Given the description of an element on the screen output the (x, y) to click on. 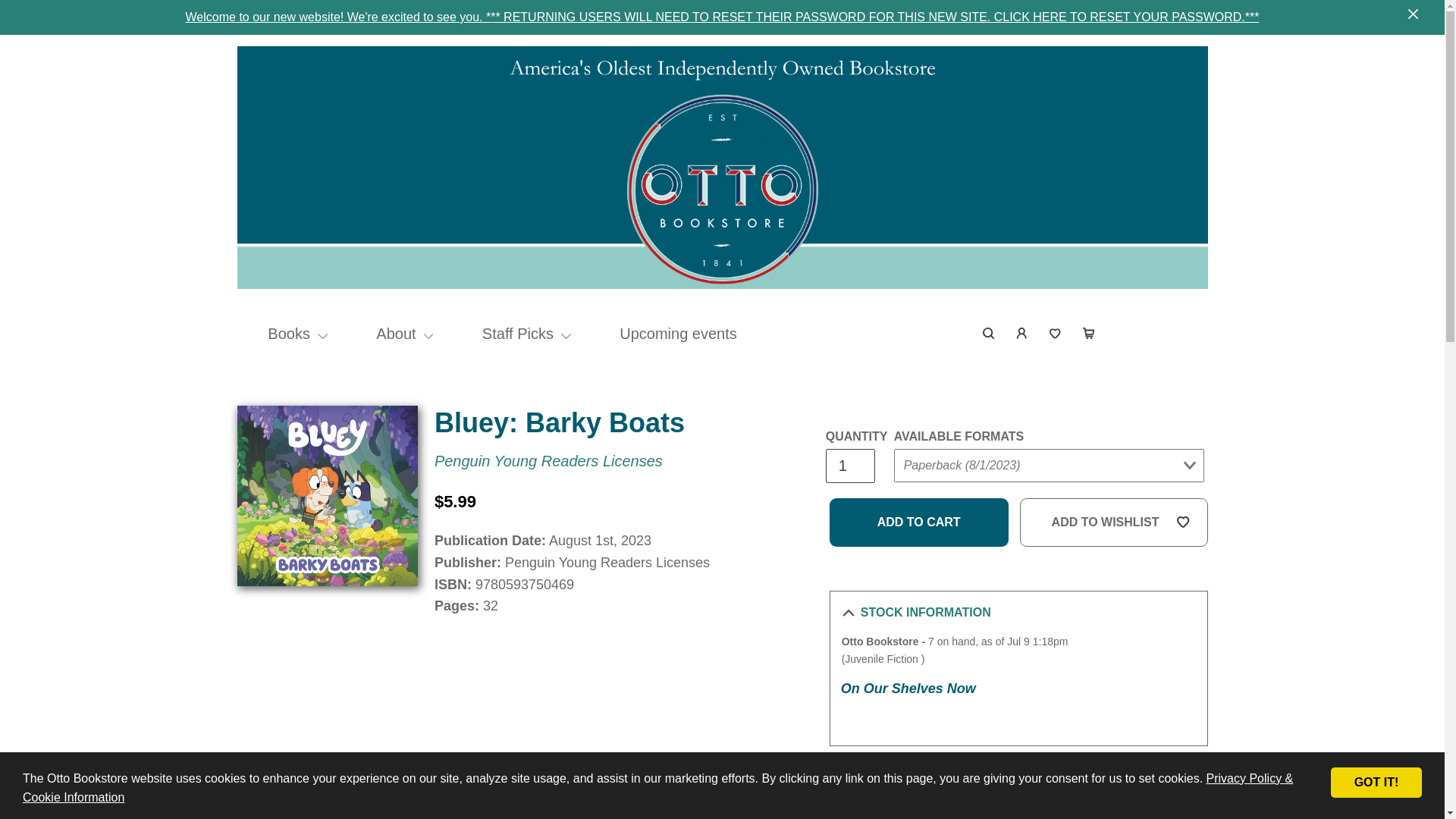
Upcoming events (678, 333)
STAFF PICKS SUB-NAVIGATION (565, 333)
ABOUT SUB-NAVIGATION (428, 333)
Search (989, 333)
Wishlists (1055, 333)
Cart (1088, 333)
Log in (1022, 333)
Wishlist (1055, 333)
Submit (1169, 229)
Add to cart (919, 522)
Submit (922, 495)
1 (850, 465)
Log in (1022, 333)
Penguin Young Readers Licenses (547, 460)
